Given the description of an element on the screen output the (x, y) to click on. 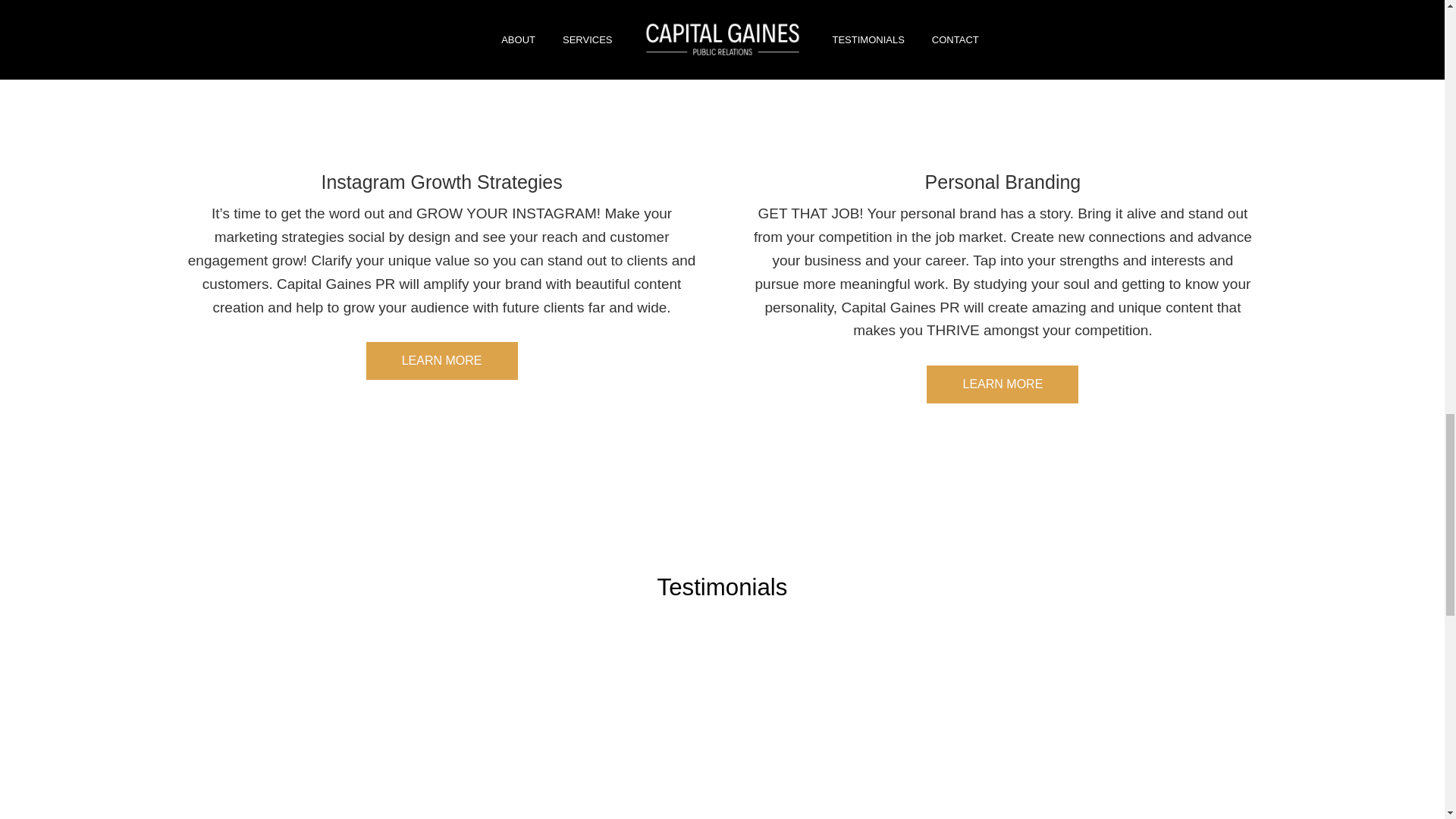
LEARN MORE (442, 361)
LEARN MORE (1002, 384)
